Given the description of an element on the screen output the (x, y) to click on. 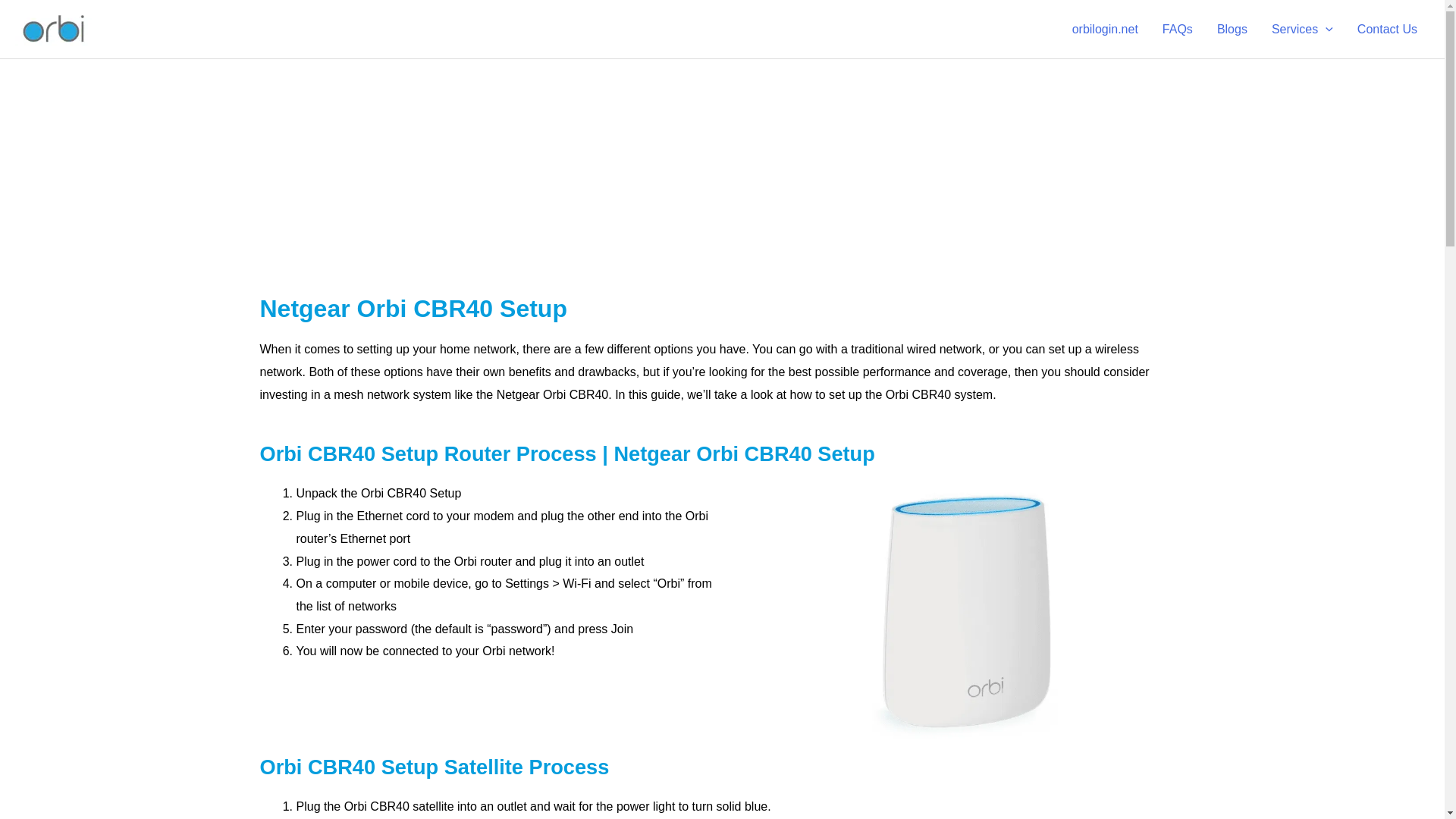
Services (1302, 29)
orbilogin.net (1104, 29)
Blogs (1232, 29)
Contact Us (1387, 29)
FAQs (1177, 29)
